Given the description of an element on the screen output the (x, y) to click on. 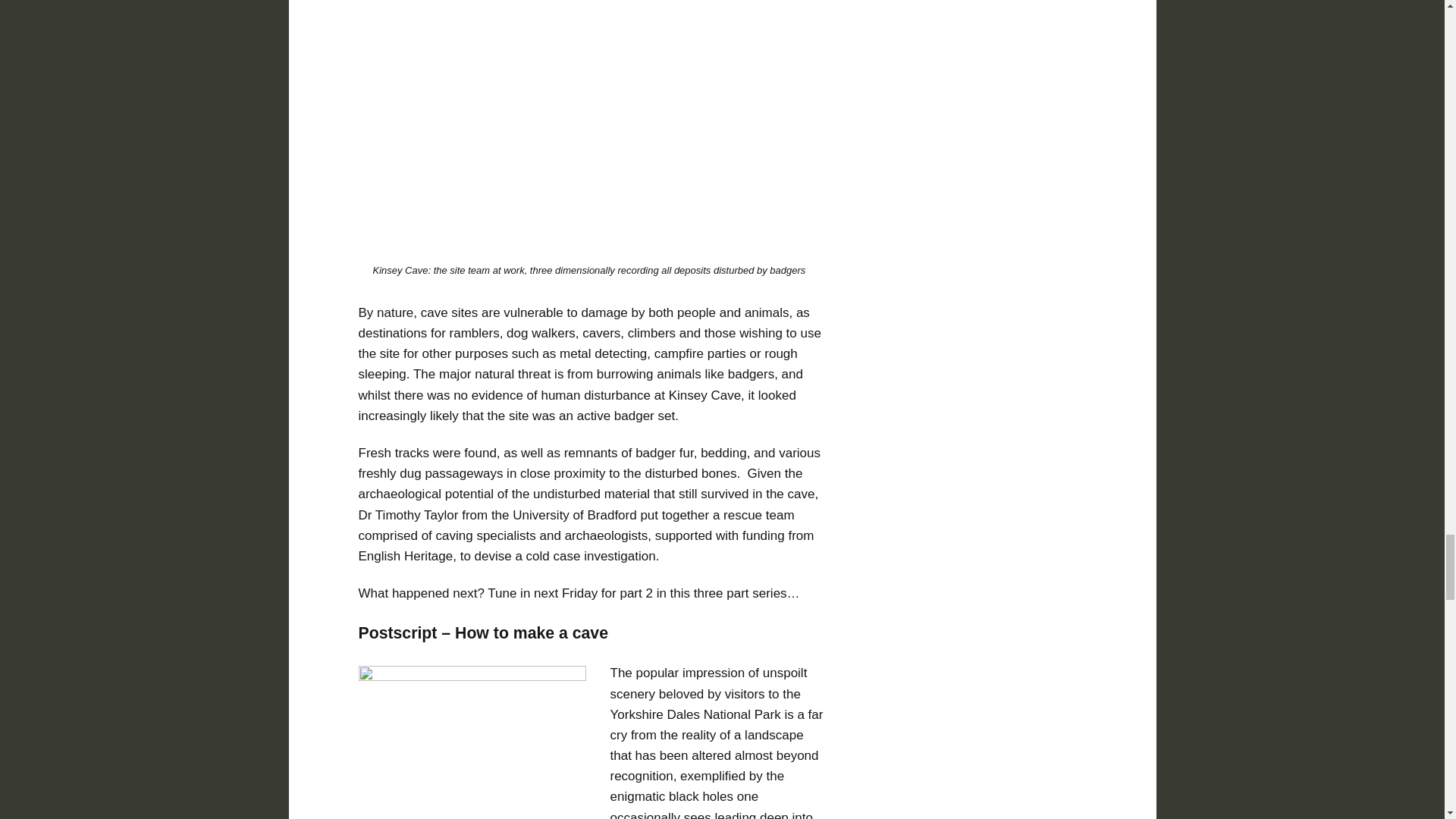
Kinsey Cave - Three Dimensional Recording (600, 127)
Malham Cove (471, 742)
